Given the description of an element on the screen output the (x, y) to click on. 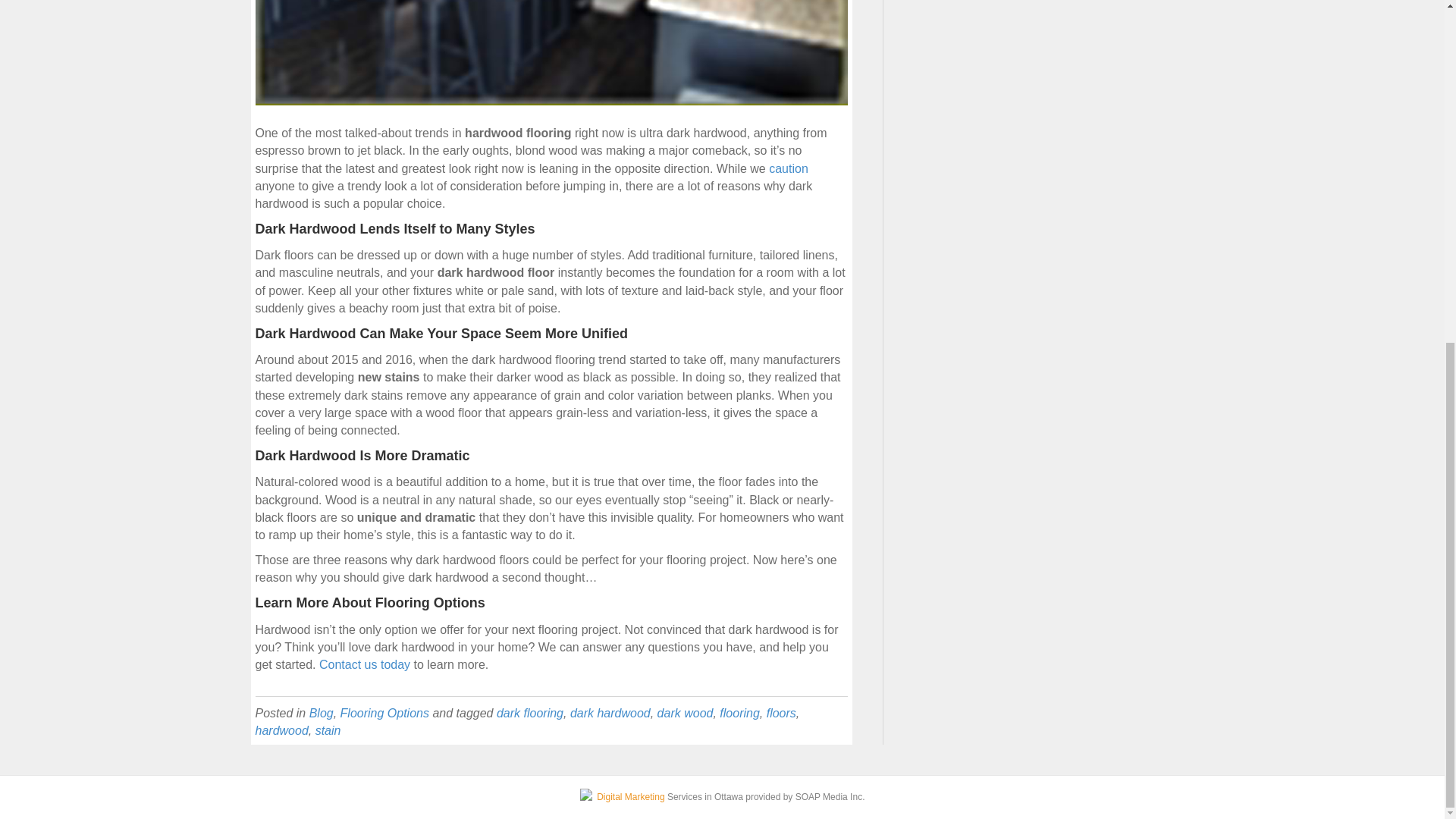
Blog (320, 712)
dark wood (685, 712)
flooring (738, 712)
dark flooring (529, 712)
hardwood (280, 730)
floors (781, 712)
Flooring Options (384, 712)
stain (327, 730)
caution (788, 168)
dark hardwood (610, 712)
Contact us today (364, 664)
